Given the description of an element on the screen output the (x, y) to click on. 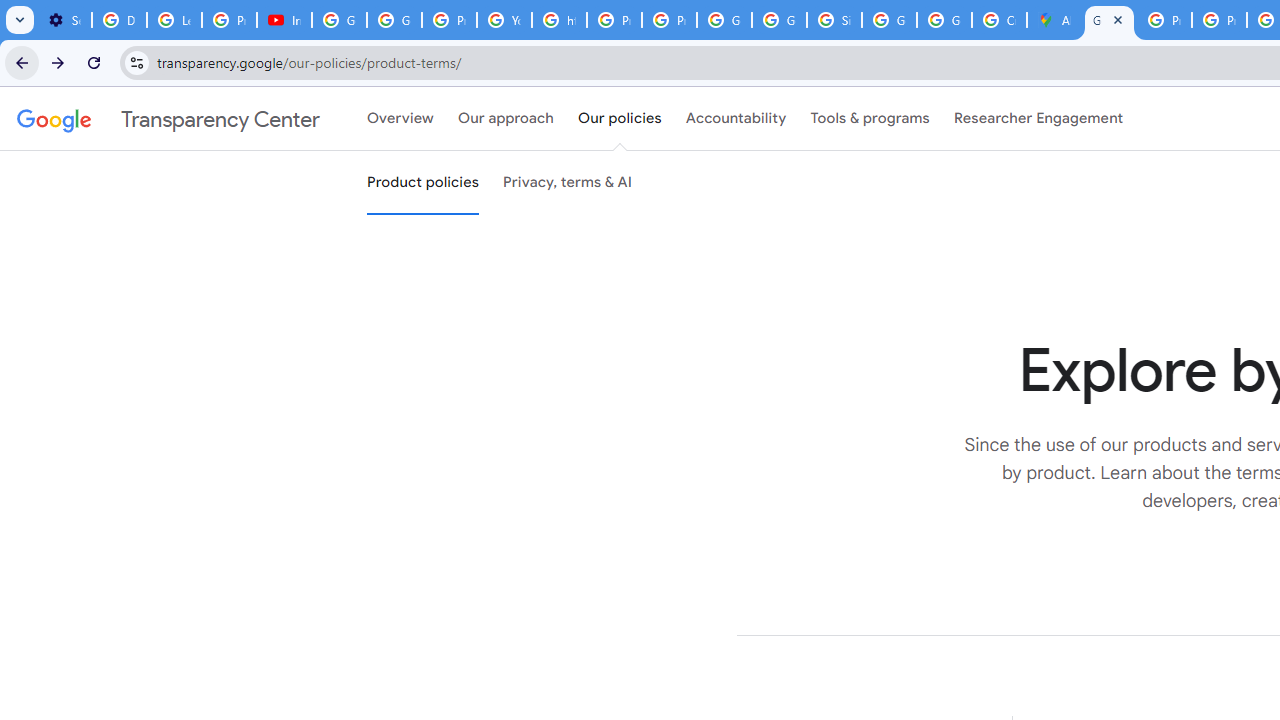
Researcher Engagement (1038, 119)
Tools & programs (869, 119)
YouTube (504, 20)
Create your Google Account (998, 20)
Accountability (735, 119)
Transparency Center (167, 119)
Google Account Help (339, 20)
